Given the description of an element on the screen output the (x, y) to click on. 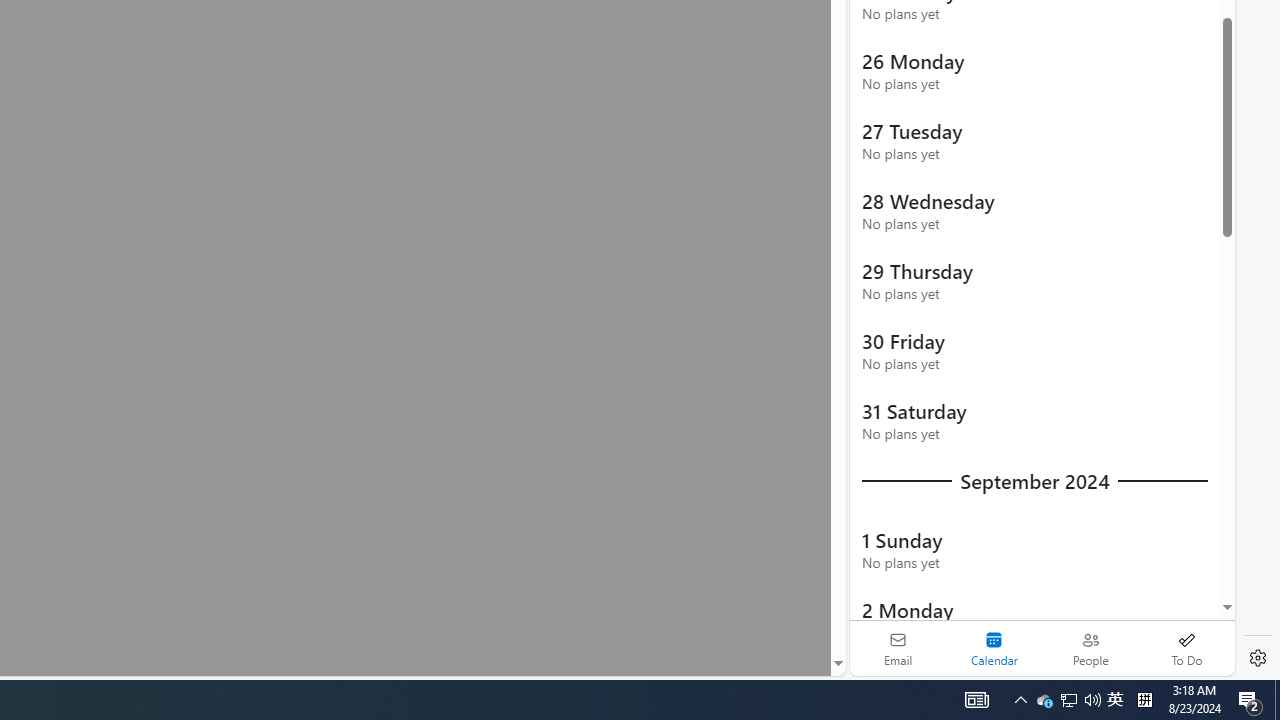
Selected calendar module. Date today is 22 (994, 648)
To Do (1186, 648)
Email (898, 648)
People (1090, 648)
